Given the description of an element on the screen output the (x, y) to click on. 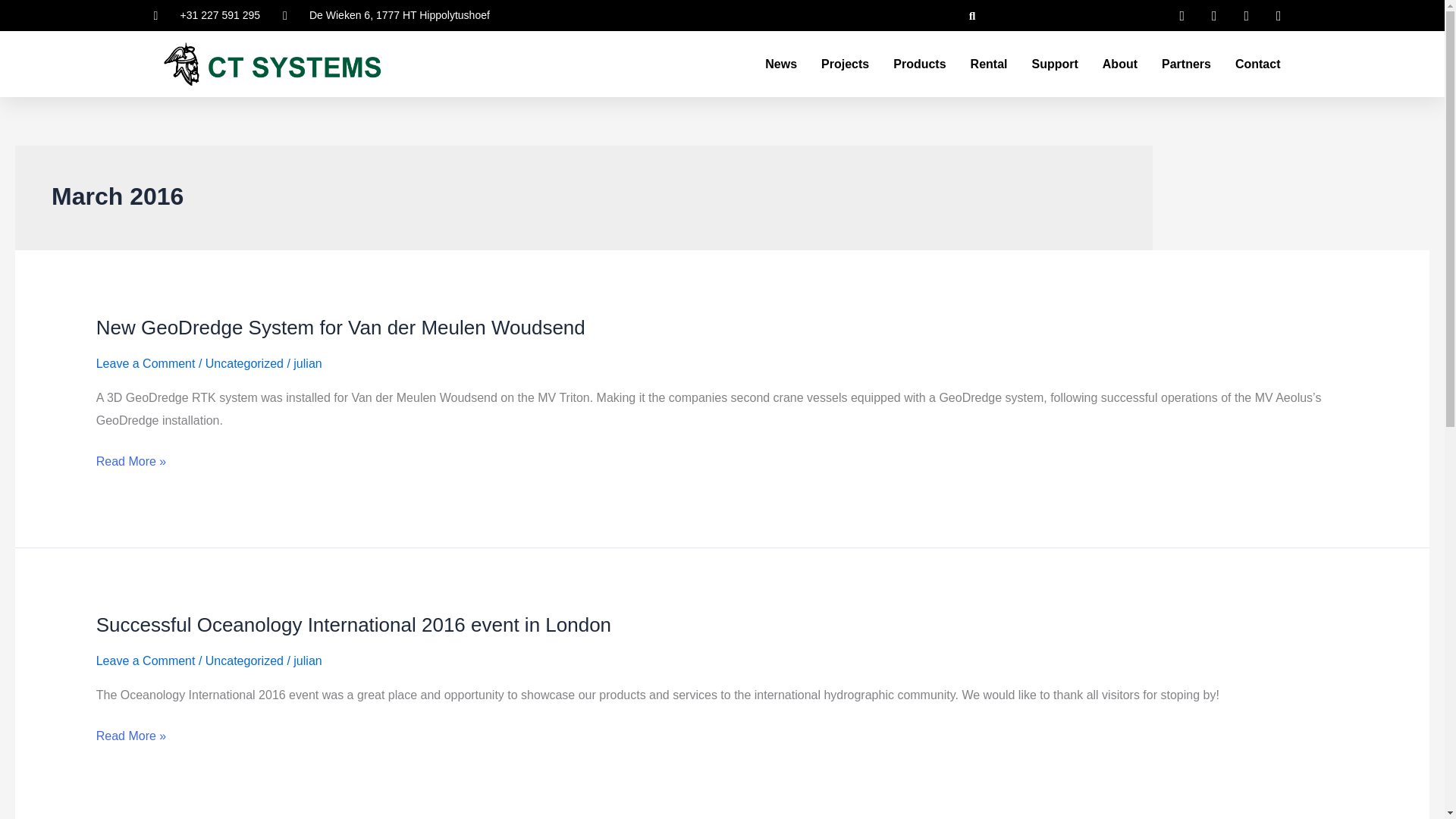
Rental (989, 63)
View all posts by julian (307, 660)
News (780, 63)
View all posts by julian (307, 363)
Support (1053, 63)
De Wieken 6, 1777 HT Hippolytushoef (385, 15)
Products (919, 63)
Projects (845, 63)
Partners (1186, 63)
About (1119, 63)
